Given the description of an element on the screen output the (x, y) to click on. 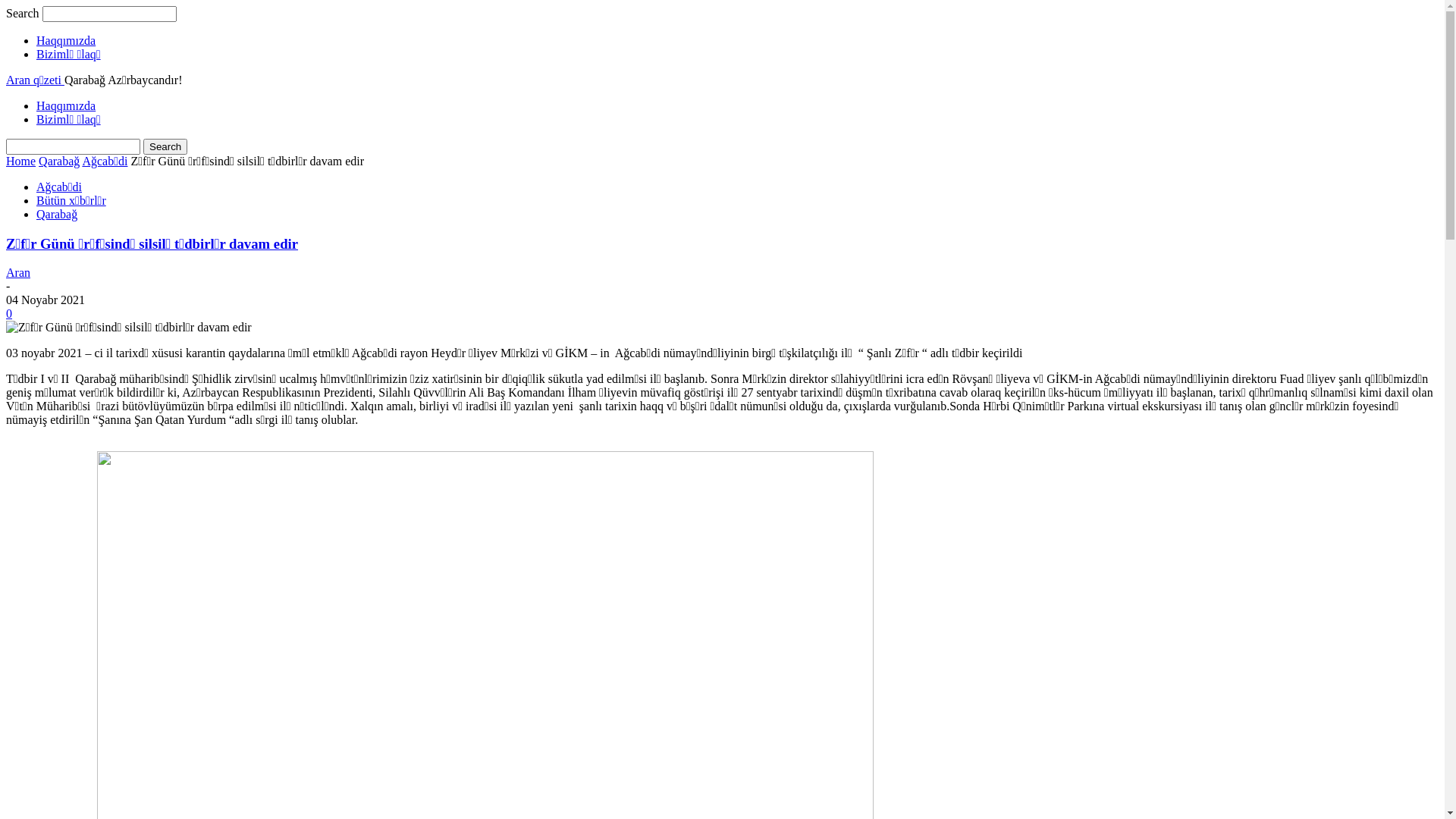
Aran Element type: text (18, 272)
Home Element type: text (20, 160)
0 Element type: text (9, 313)
Search Element type: text (165, 146)
